Given the description of an element on the screen output the (x, y) to click on. 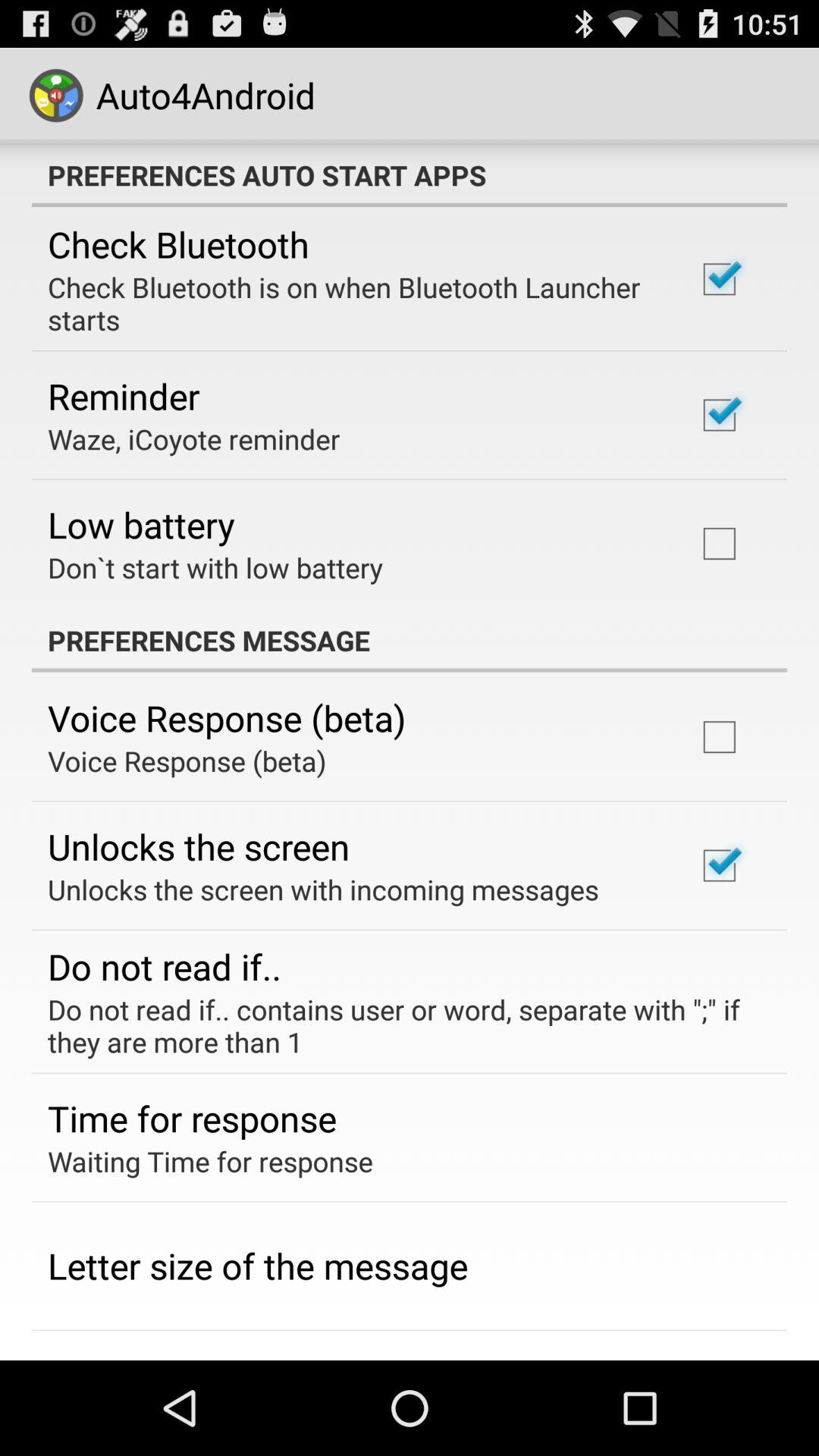
turn on item below waiting time for app (257, 1265)
